Given the description of an element on the screen output the (x, y) to click on. 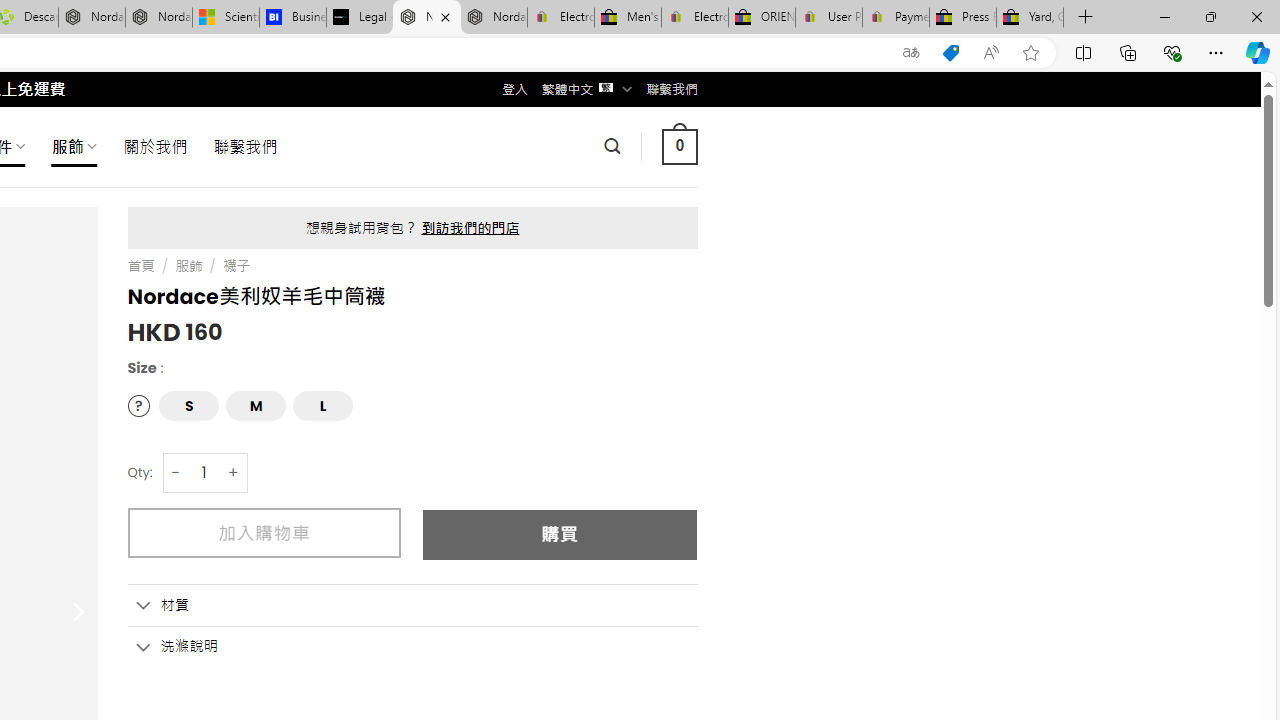
? (137, 404)
  0   (679, 146)
+ (234, 472)
